Given the description of an element on the screen output the (x, y) to click on. 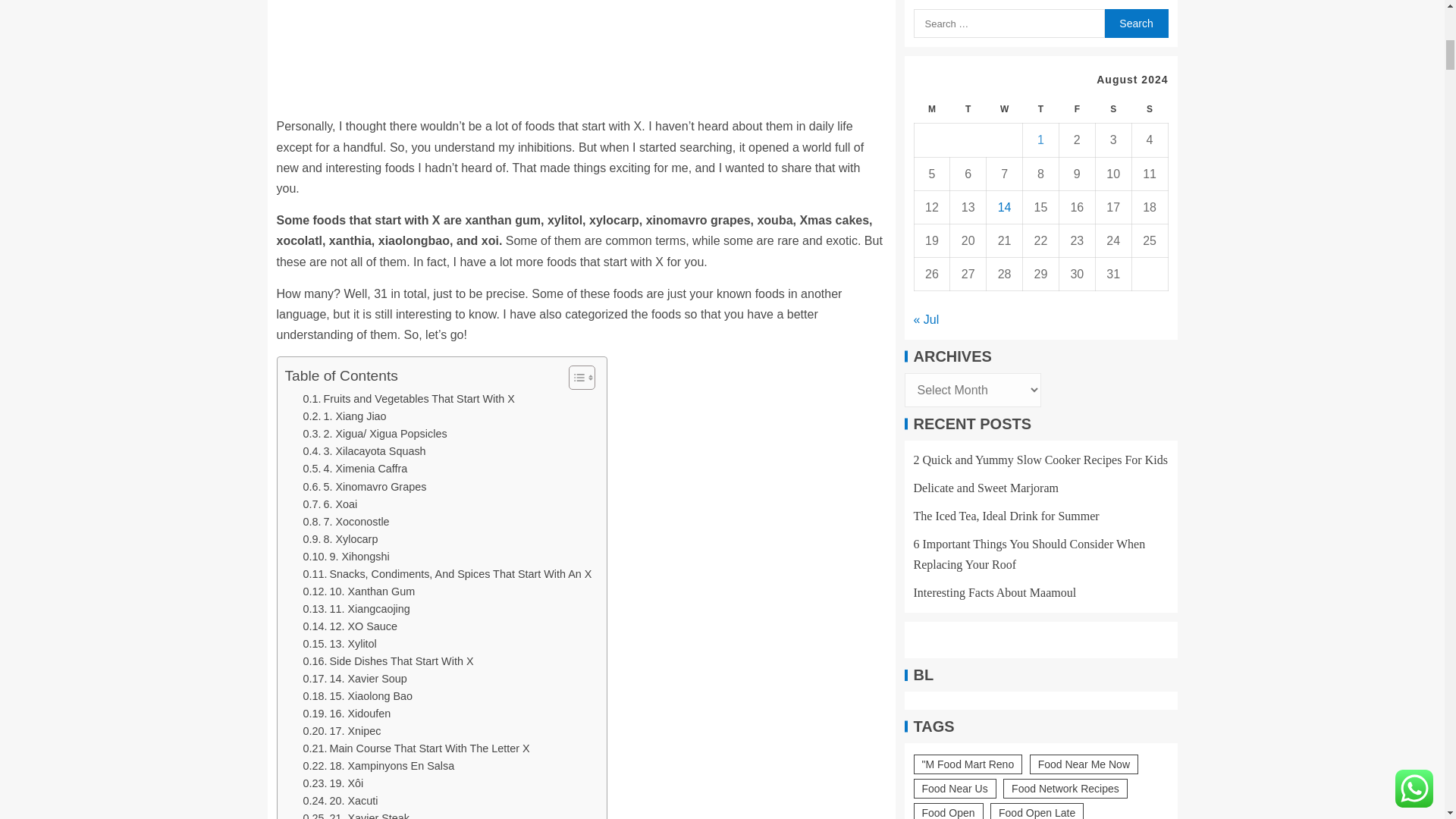
6. Xoai (330, 504)
9. Xihongshi (346, 556)
8. Xylocarp (340, 538)
5. Xinomavro Grapes (364, 486)
13. Xylitol (339, 643)
7. Xoconostle (346, 521)
11. Xiangcaojing (356, 609)
Fruits and Vegetables That Start With X (408, 398)
1. Xiang Jiao (344, 416)
12. XO Sauce (349, 626)
